Given the description of an element on the screen output the (x, y) to click on. 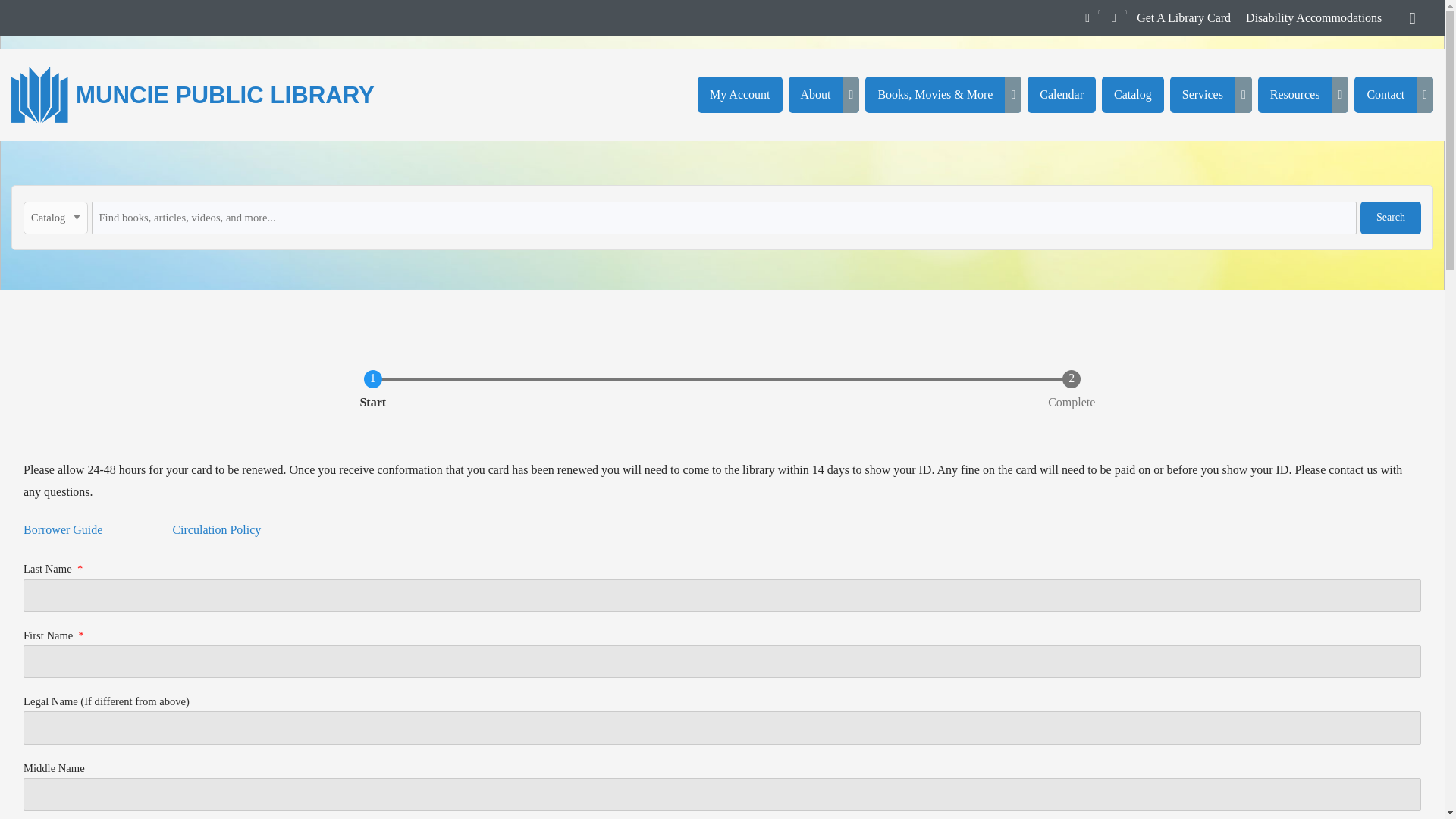
Decrease font size (1113, 17)
Search (1390, 217)
Complete (1071, 392)
Start (372, 392)
Increase font size (1087, 17)
